Given the description of an element on the screen output the (x, y) to click on. 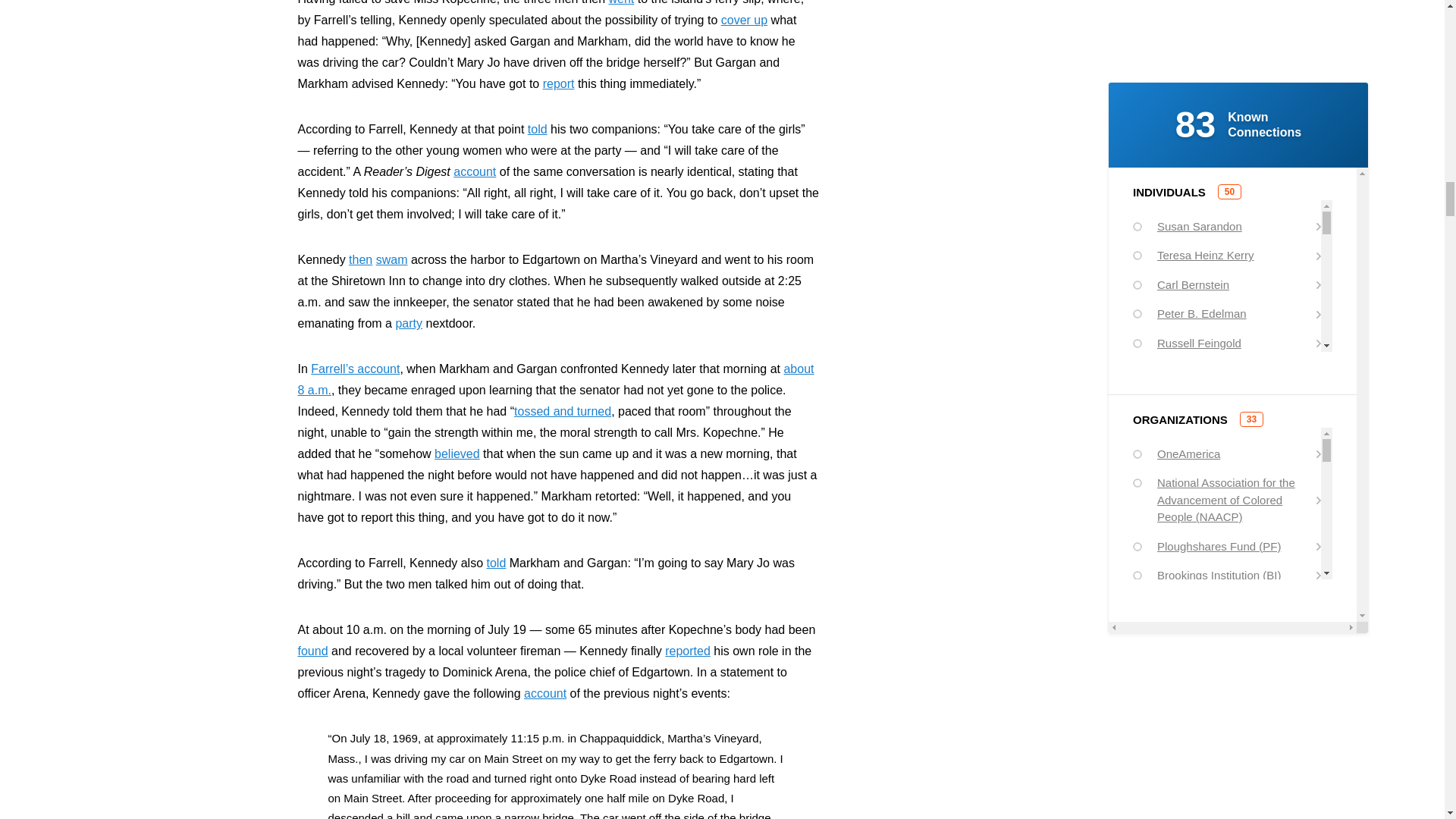
report (559, 83)
then (360, 259)
told (537, 128)
account (474, 171)
cover up (743, 19)
went (621, 2)
